Given the description of an element on the screen output the (x, y) to click on. 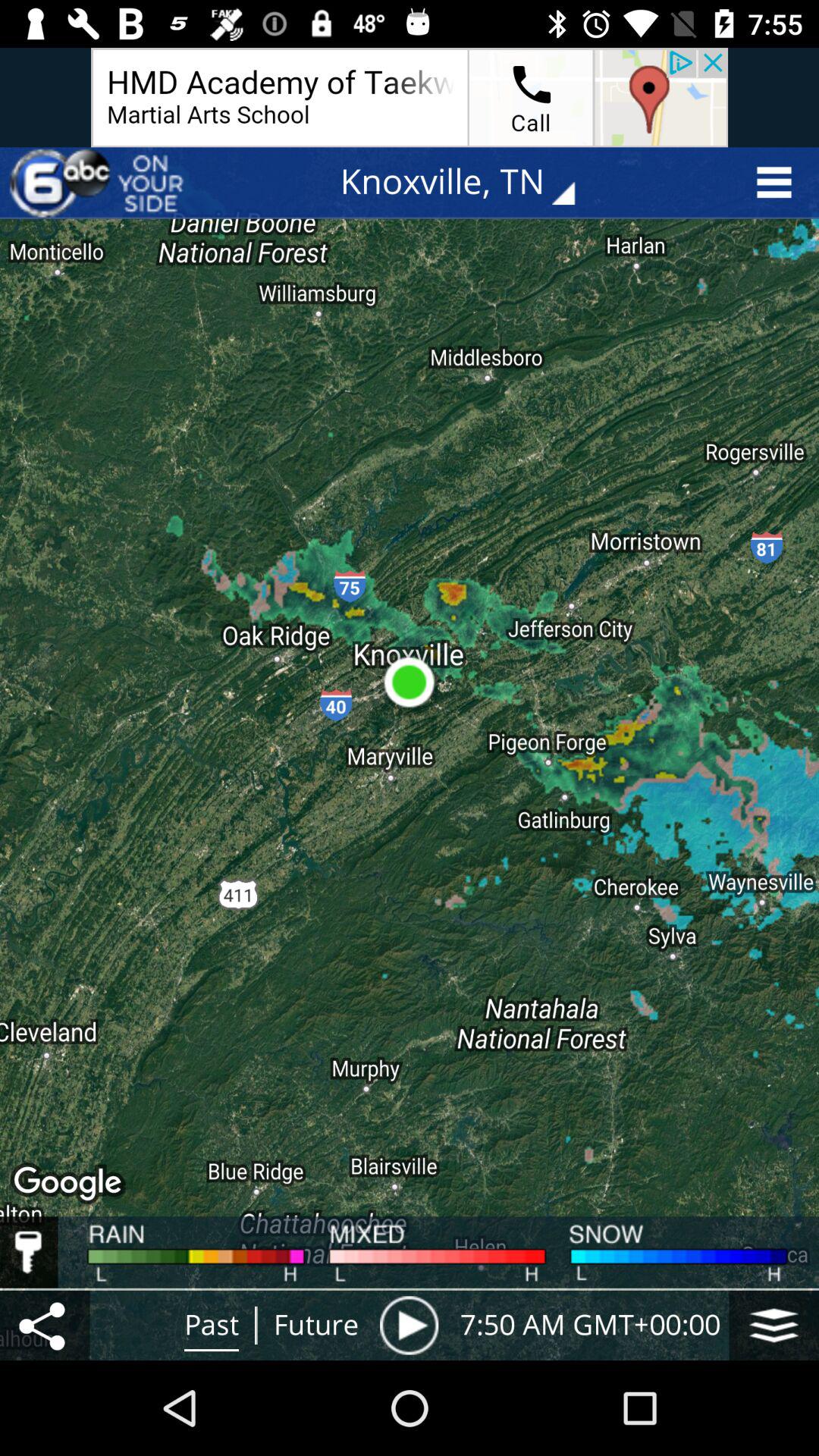
select the item at the top left corner (99, 182)
